Given the description of an element on the screen output the (x, y) to click on. 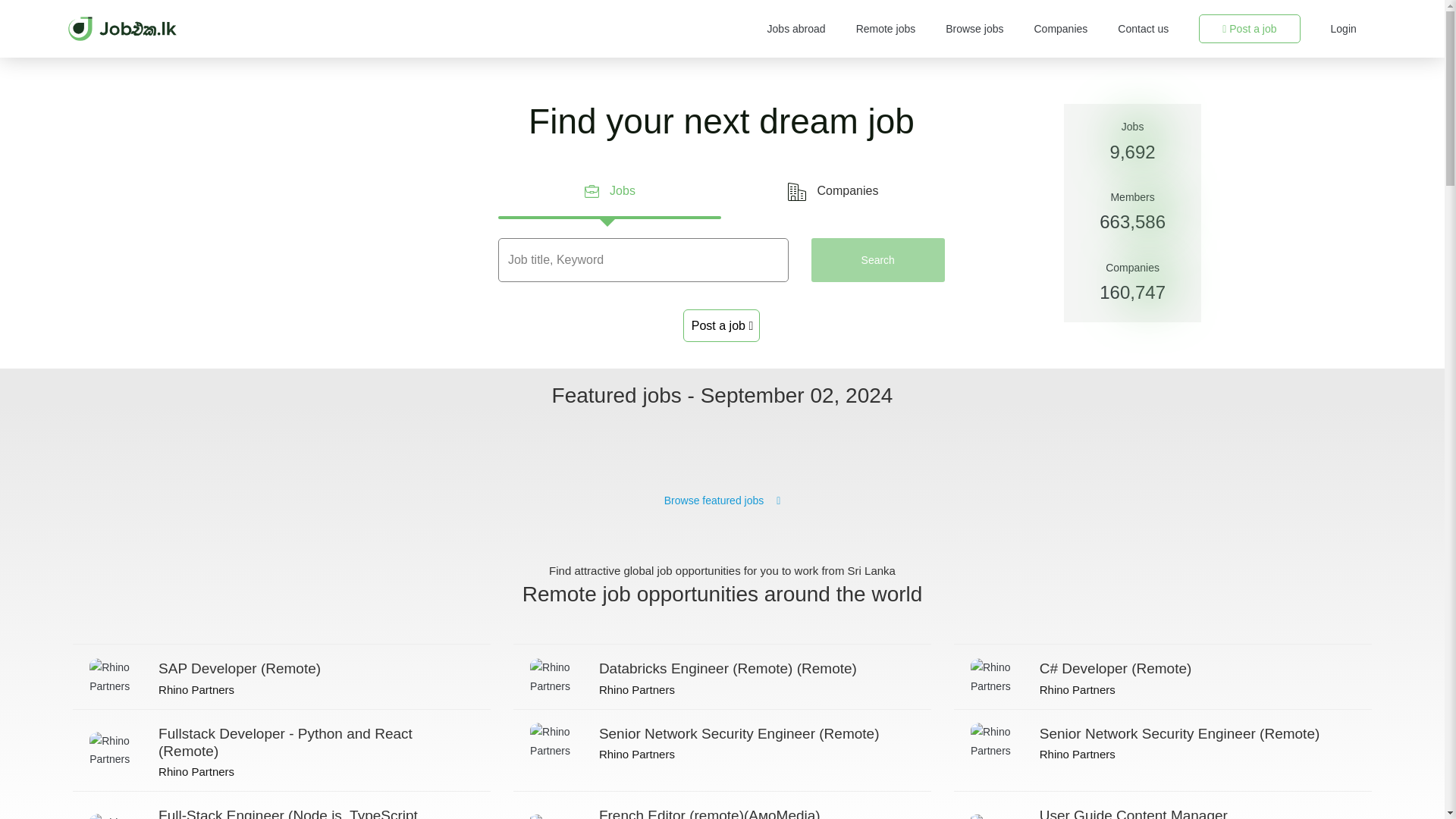
Companies (833, 191)
Jobs (608, 191)
Search (1162, 805)
Contact us (877, 259)
Browse jobs (1143, 28)
Remote jobs (973, 28)
Post a job (885, 28)
Post a job (721, 325)
Jobs abroad (1249, 28)
